Given the description of an element on the screen output the (x, y) to click on. 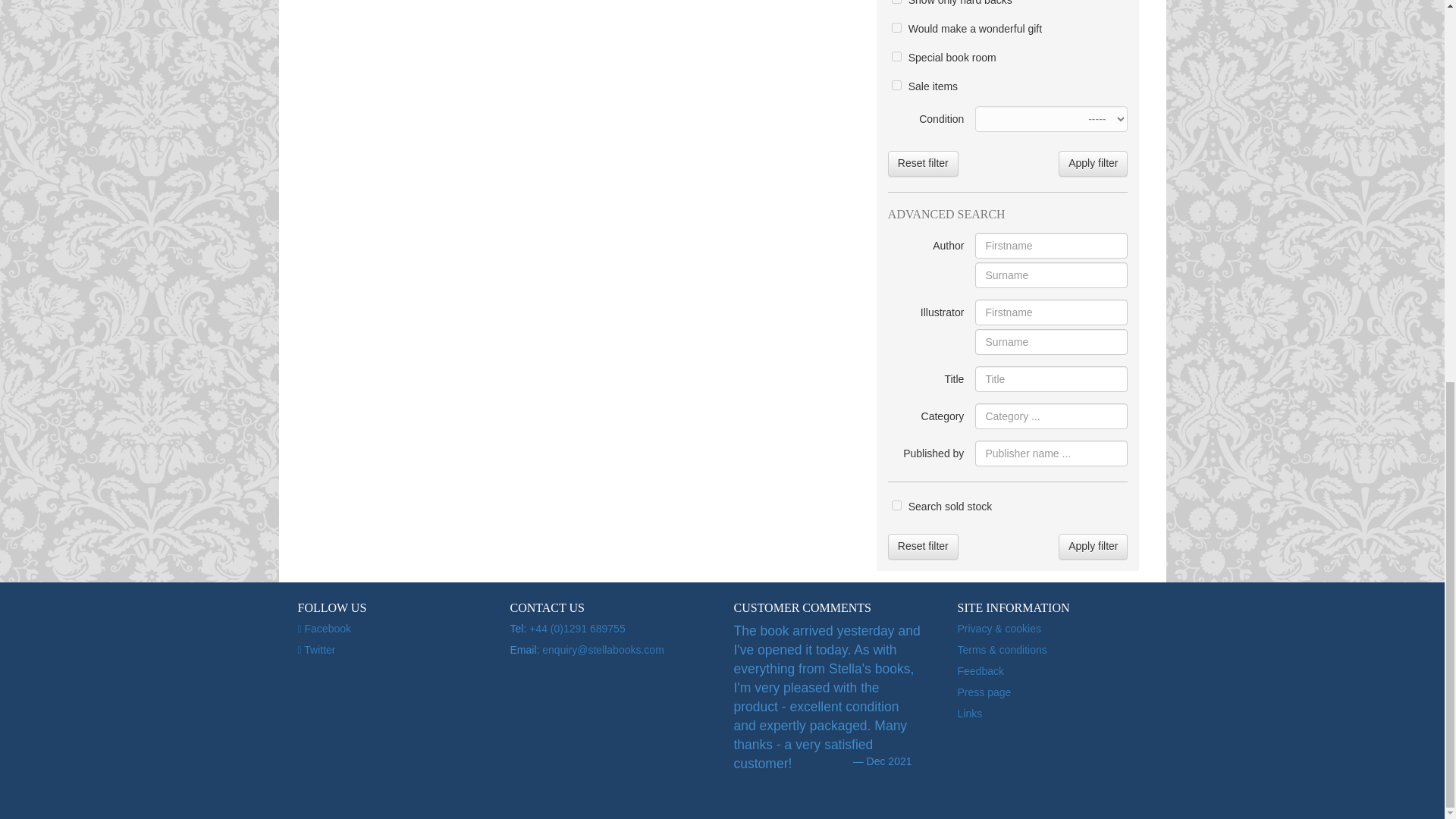
Y (896, 56)
Y (896, 2)
Y (896, 27)
Y (896, 85)
